Given the description of an element on the screen output the (x, y) to click on. 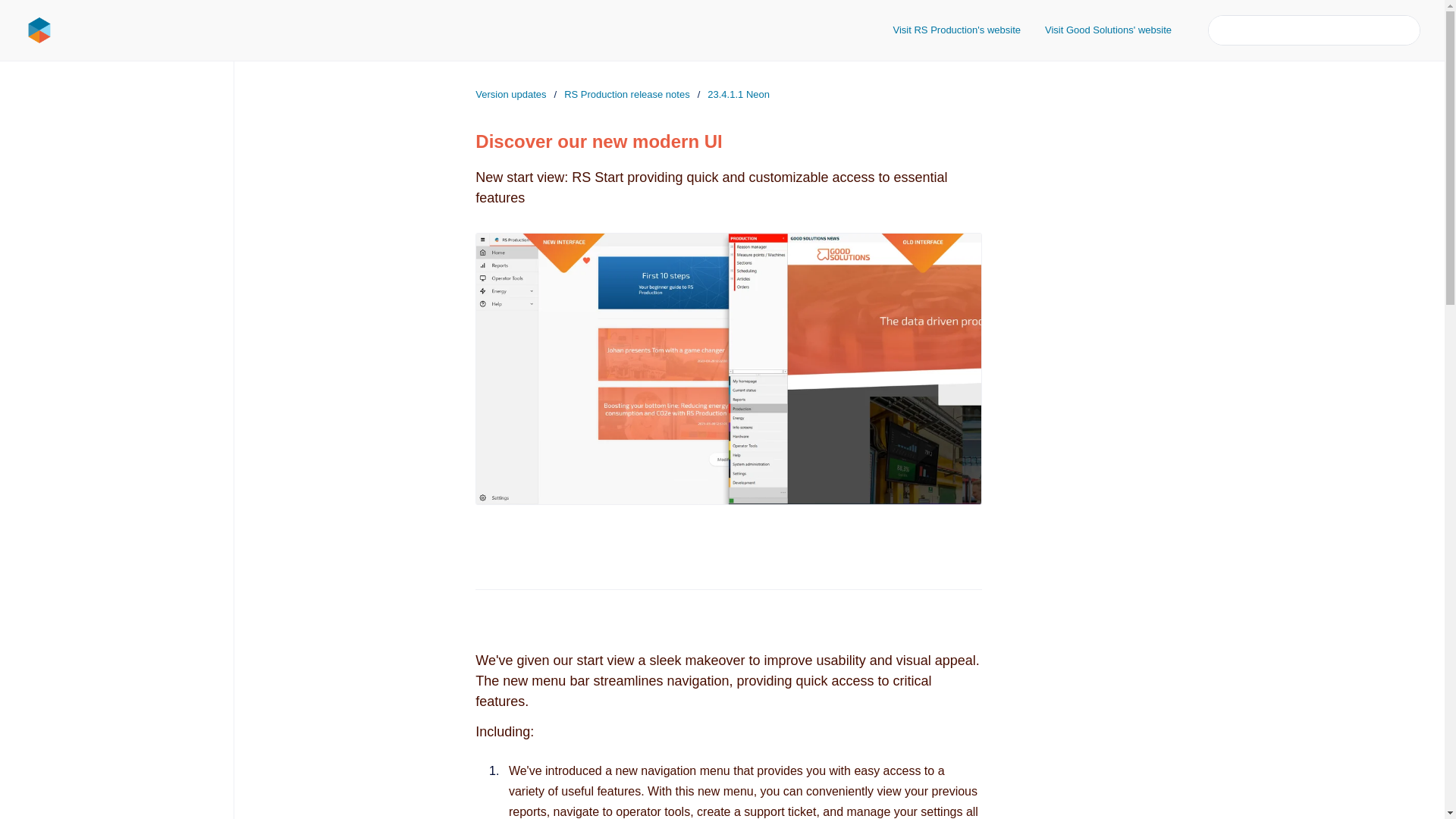
23.4.1.1 Neon (738, 94)
Go to homepage (39, 30)
RS Production release notes (626, 94)
Version updates (511, 94)
Visit Good Solutions' website (1107, 29)
Visit RS Production's website (956, 29)
